Given the description of an element on the screen output the (x, y) to click on. 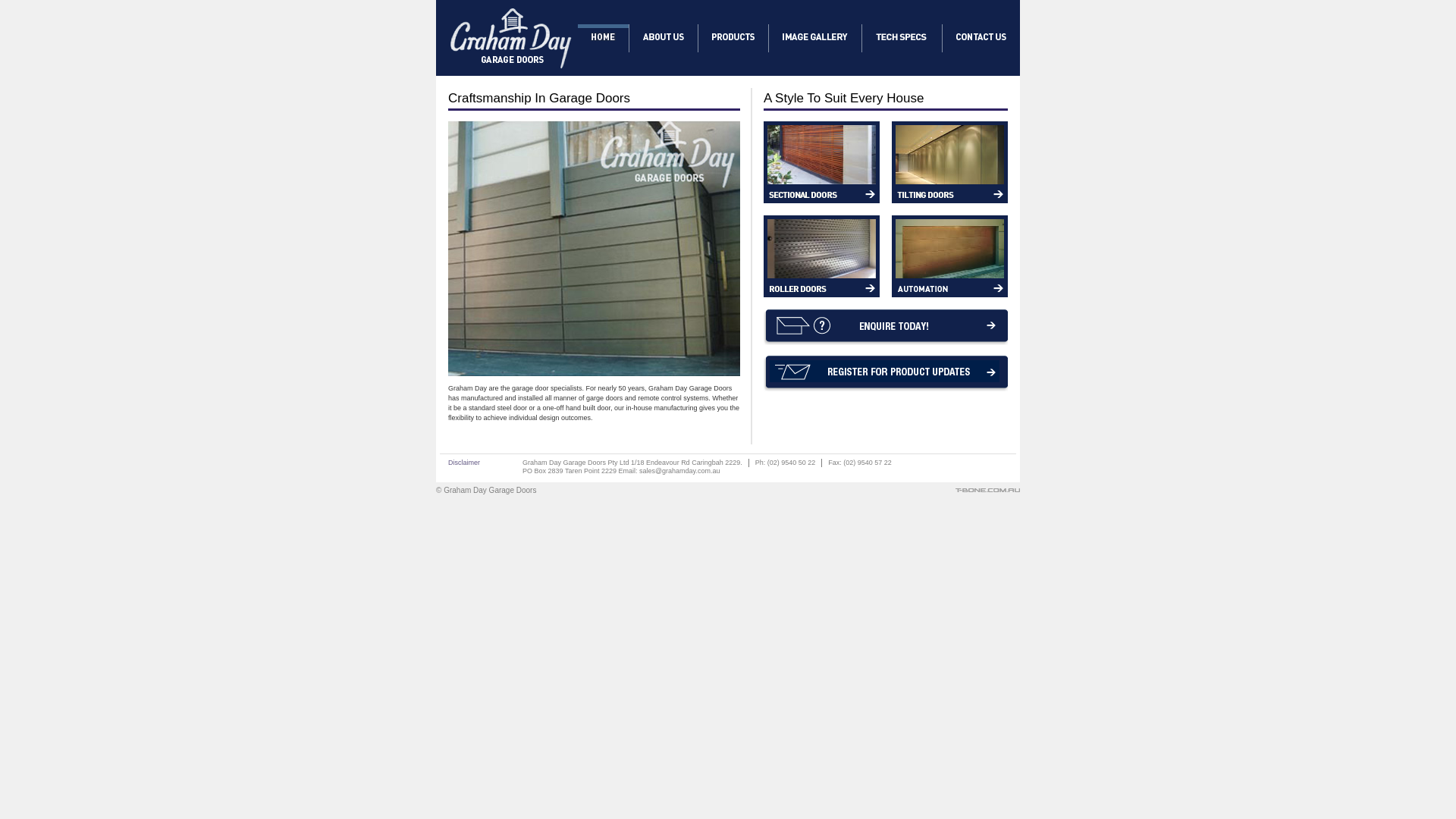
Designers and Developers of Internet & Software Solutions Element type: hover (987, 490)
Home Element type: hover (602, 38)
Graham Day Garage Doors Element type: hover (509, 37)
About Graham Day Element type: hover (663, 36)
Tech Specs Element type: hover (901, 38)
View the Image Gallery Element type: hover (814, 36)
View our Products Element type: hover (733, 38)
Home Element type: hover (602, 36)
View all Sectional Doors Element type: hover (821, 154)
View all Tilting Doors Element type: hover (949, 154)
Graham Day Garage Doors Element type: hover (509, 72)
View our Products Element type: hover (733, 36)
View all Roller Doors Element type: hover (821, 248)
Contact Graham Day Element type: hover (980, 38)
Tech Specs Element type: hover (901, 36)
Contact Graham Day Element type: hover (981, 36)
Signup to Our eNewsletter Today! Element type: hover (885, 374)
Enquire Today! Element type: hover (885, 234)
About Graham Day Element type: hover (663, 38)
View the Image Gallery Element type: hover (814, 38)
Disclaimer Element type: text (466, 462)
Designers and Developers of Internet & Software Solutions Element type: hover (987, 492)
View all Automation Doors Element type: hover (949, 248)
